Given the description of an element on the screen output the (x, y) to click on. 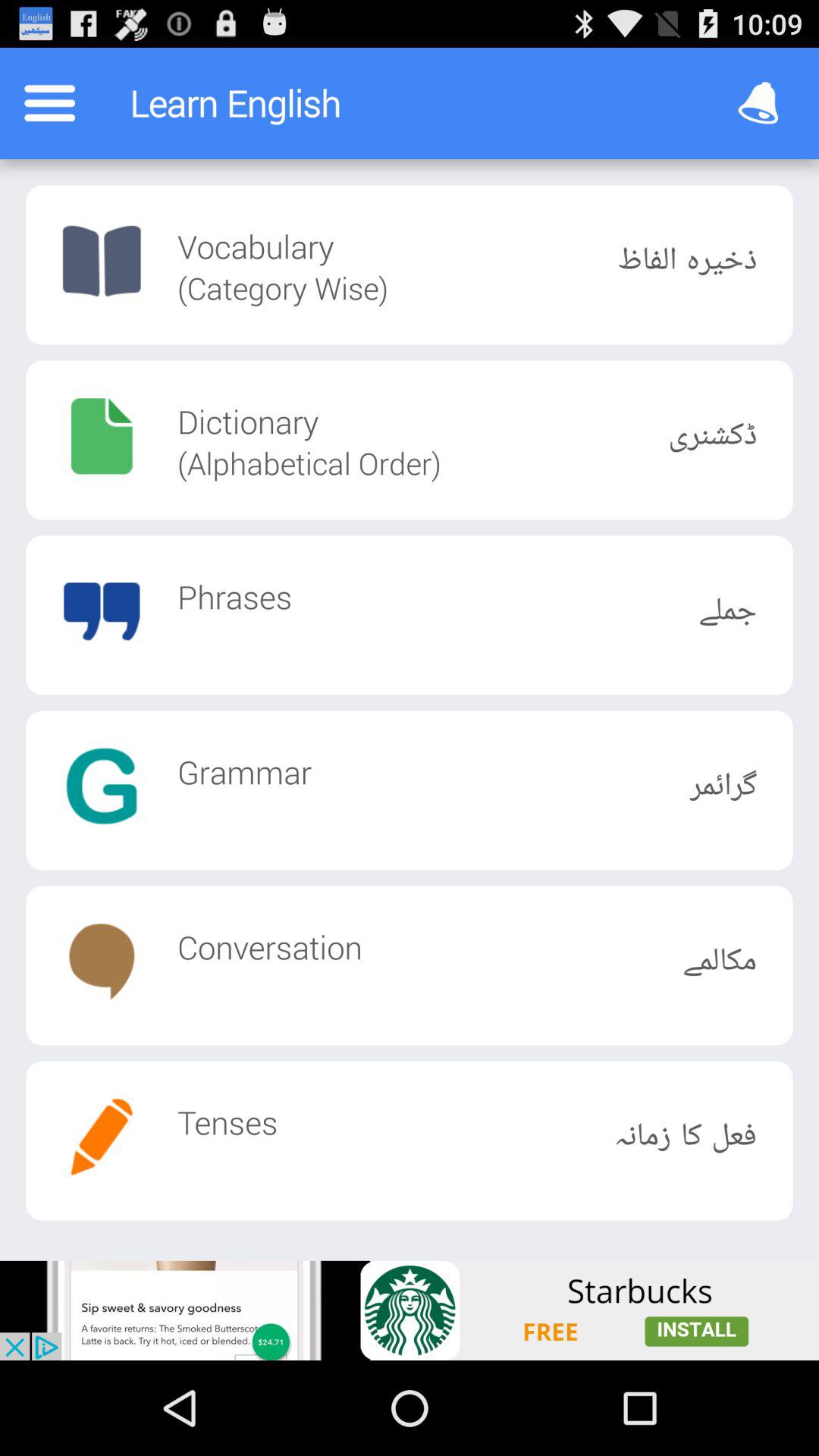
open advertisement (409, 1310)
